Given the description of an element on the screen output the (x, y) to click on. 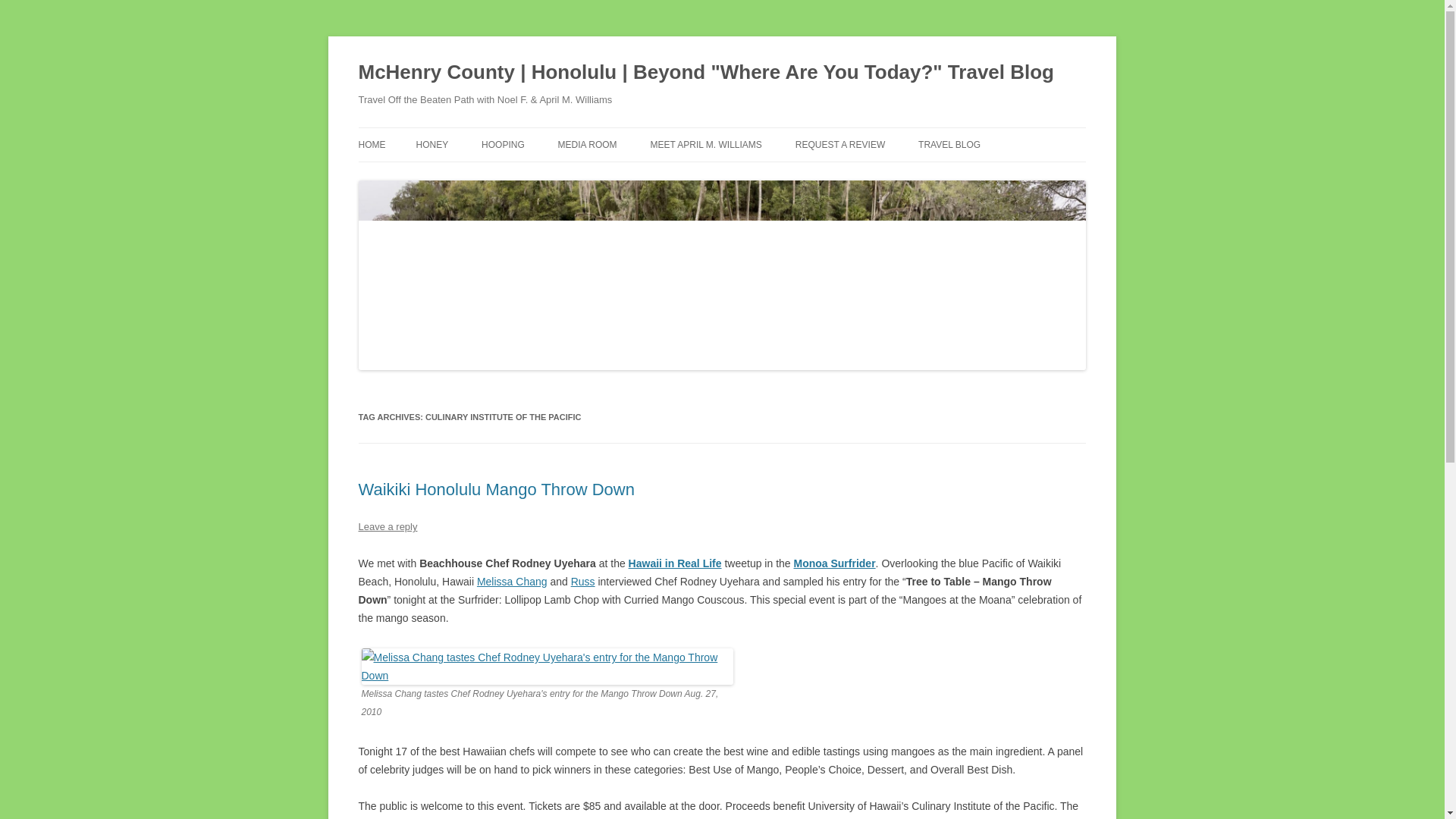
Waikiki Honolulu Mango Throw Down (495, 488)
MEDIA ROOM (587, 144)
Melissa Chang (512, 581)
HONEY (431, 144)
Melissa Chang (512, 581)
Hawaii in Real Life (675, 563)
TRAVEL BLOG (948, 144)
Leave a reply (387, 526)
NEWS (633, 176)
ADVERTISE (870, 176)
